Given the description of an element on the screen output the (x, y) to click on. 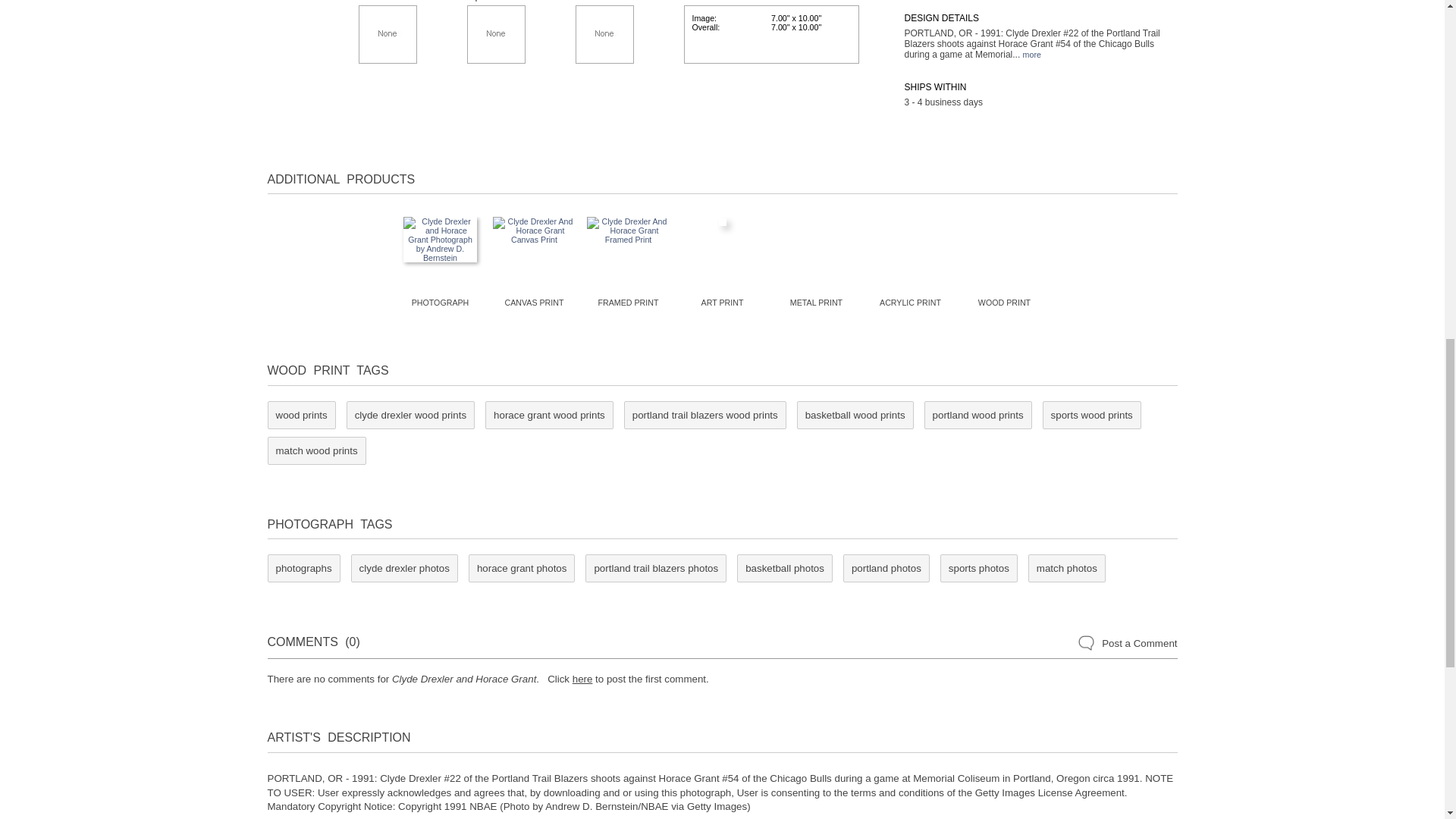
Top Mat (496, 33)
Selected Frame (387, 33)
Bottom Mat (604, 33)
